Given the description of an element on the screen output the (x, y) to click on. 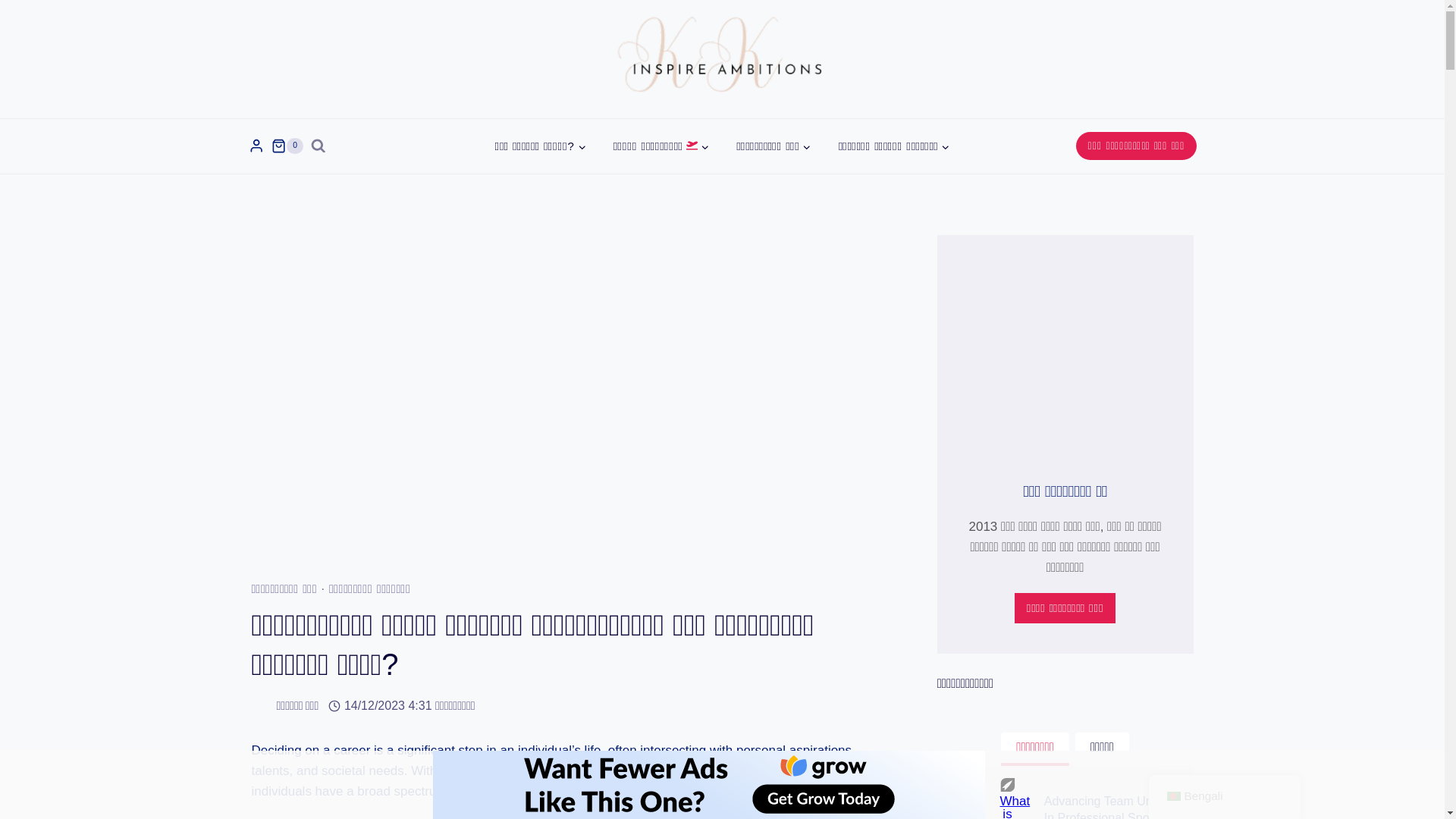
0 (286, 146)
Bengali (1172, 795)
